Given the description of an element on the screen output the (x, y) to click on. 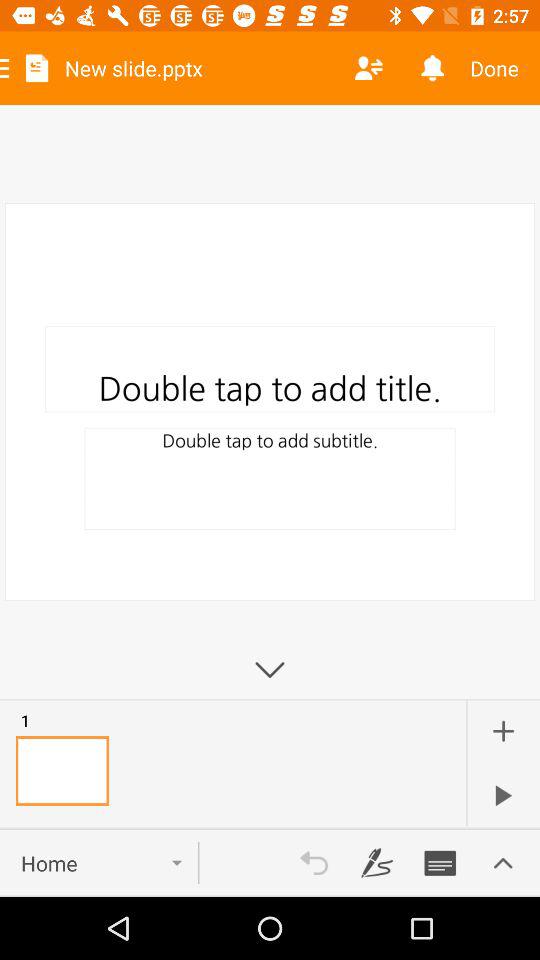
view slideshow (503, 795)
